Given the description of an element on the screen output the (x, y) to click on. 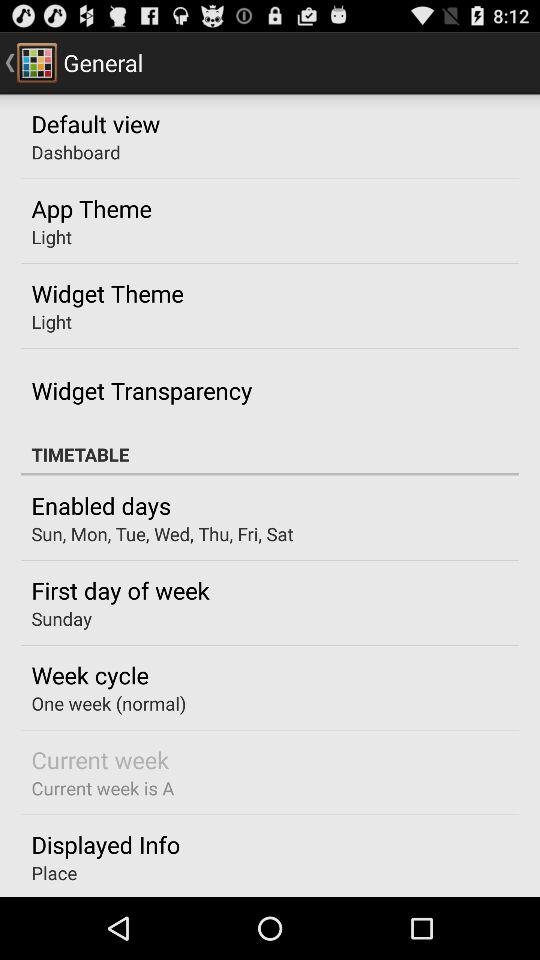
launch item below light (107, 293)
